Given the description of an element on the screen output the (x, y) to click on. 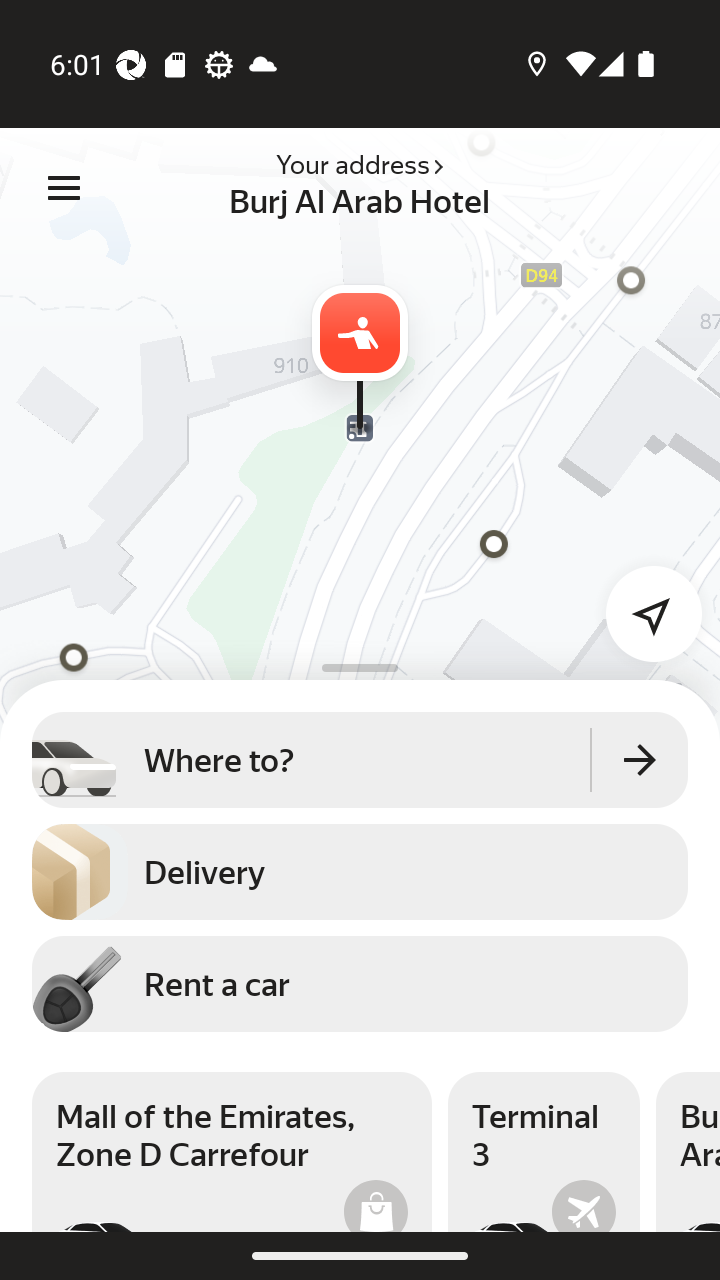
Menu Menu Menu (64, 188)
Detect my location (641, 601)
Where to? Where to? To the choice of address (359, 759)
To the choice of address (639, 759)
Delivery (359, 872)
Rent a сar (359, 983)
Terminal 3,  Terminal 3 Business (543, 1151)
